Given the description of an element on the screen output the (x, y) to click on. 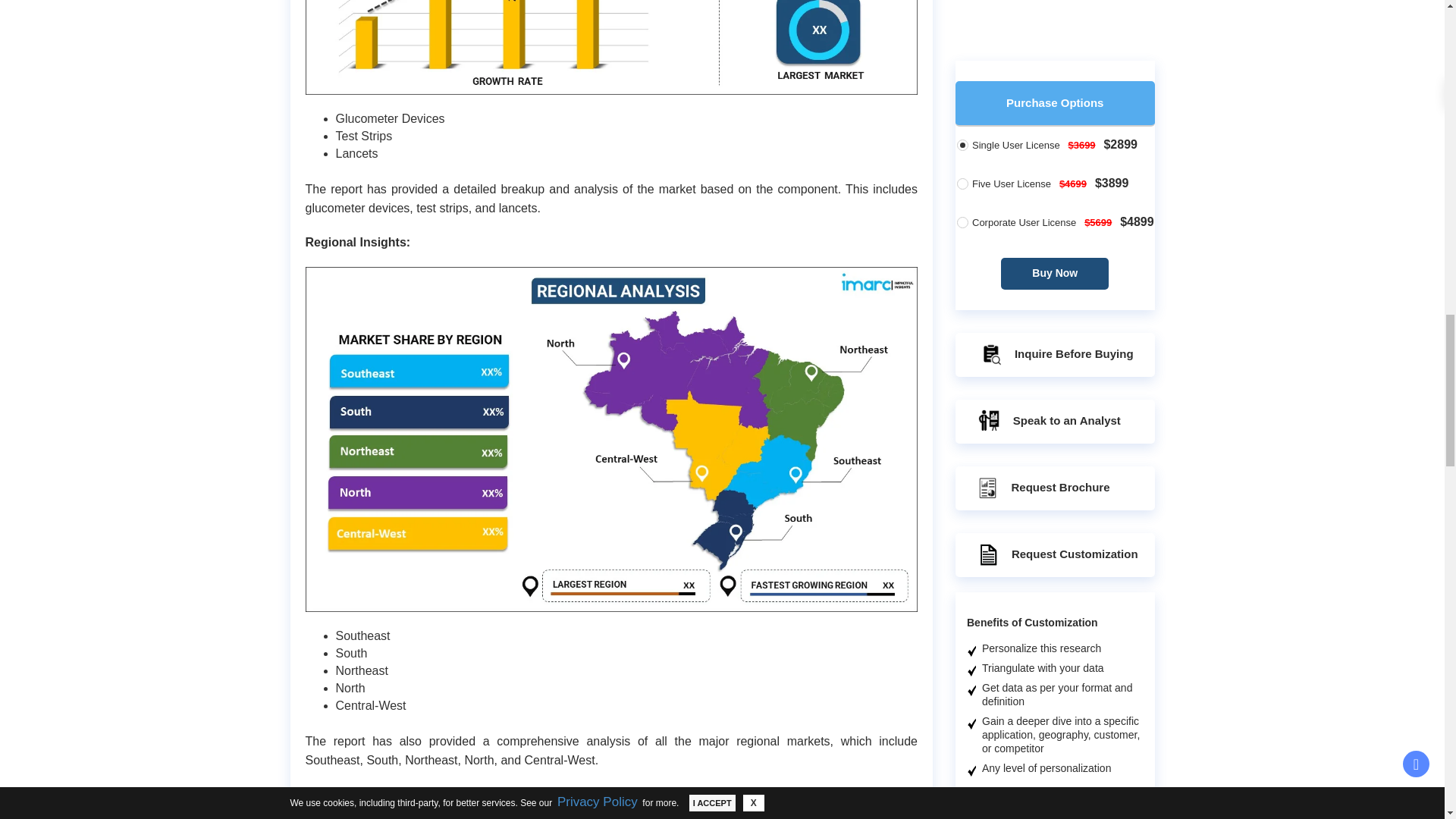
Know more (1081, 7)
